Given the description of an element on the screen output the (x, y) to click on. 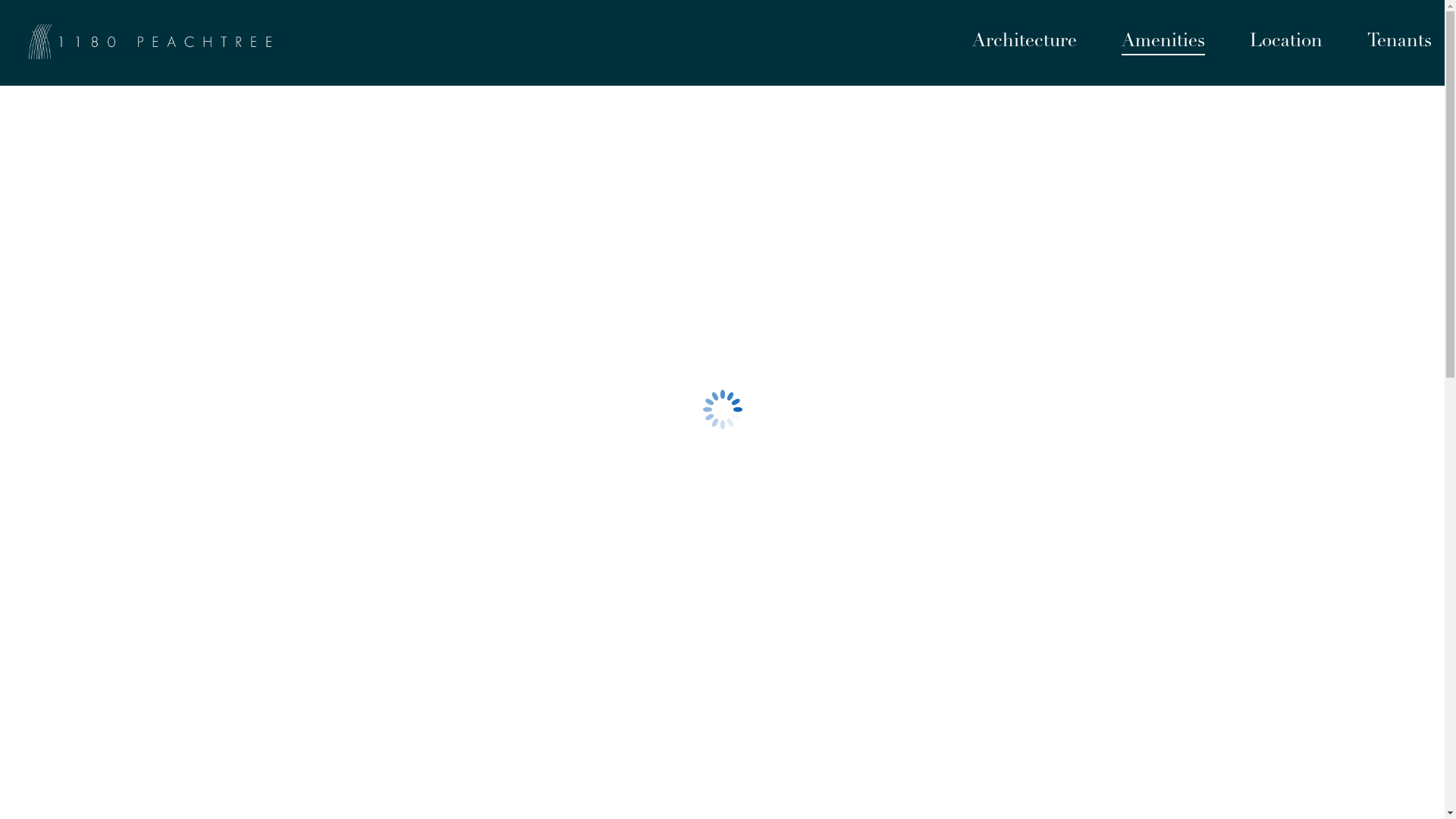
Amenities Element type: text (1162, 43)
Colony Square Element type: text (111, 458)
Architecture Element type: text (1024, 43)
Location Element type: text (1285, 43)
Tenants Element type: text (1399, 43)
